Given the description of an element on the screen output the (x, y) to click on. 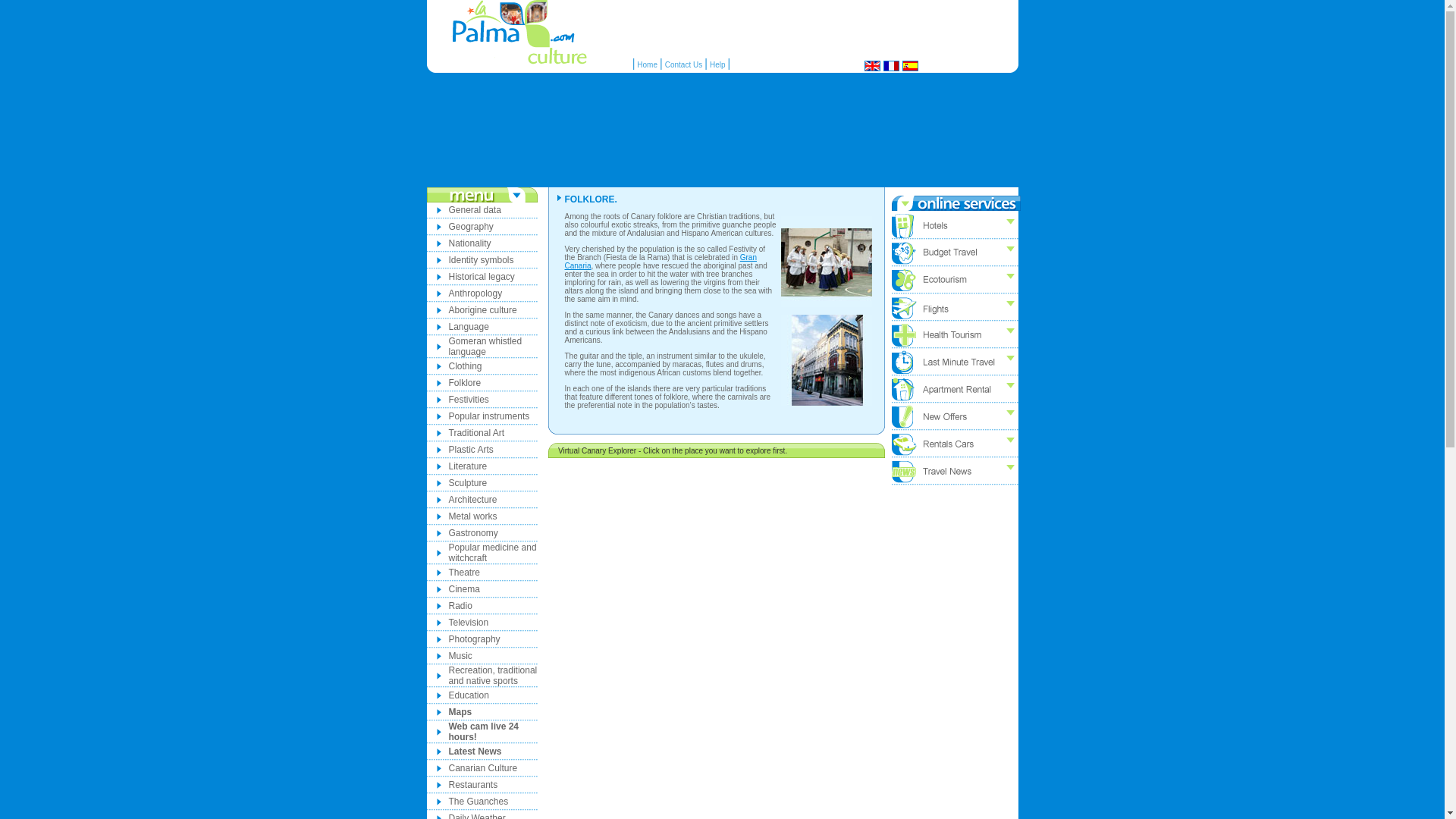
Clothing (464, 366)
Music (459, 655)
Gastronomy (472, 532)
Advertisement (812, 22)
Home (647, 64)
Festivities (468, 398)
Historical legacy (481, 276)
Nationality (470, 243)
Literature (467, 466)
Plastic Arts (470, 449)
